Given the description of an element on the screen output the (x, y) to click on. 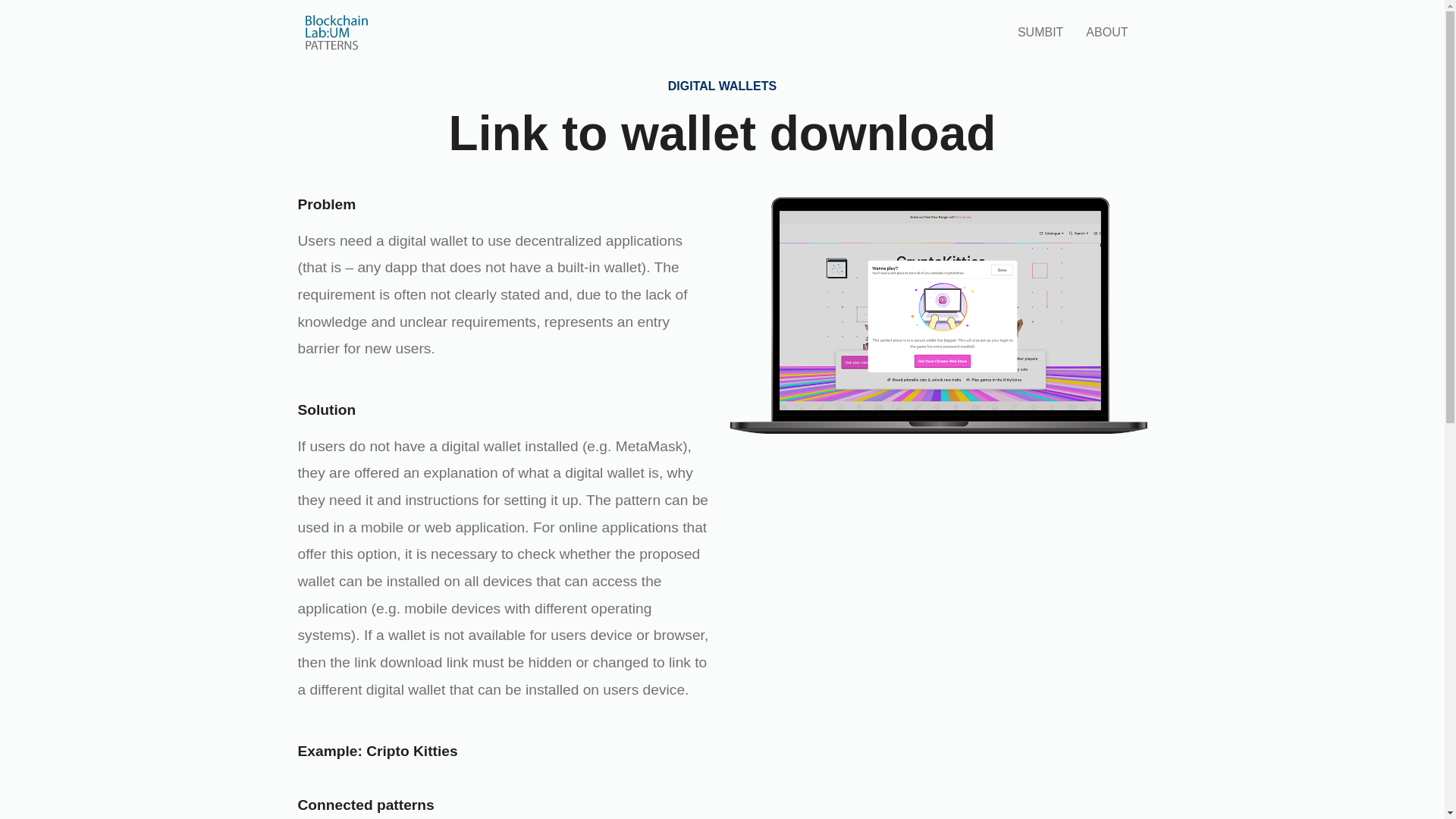
SUMBIT (1040, 32)
ABOUT (1106, 32)
Example: Cripto Kitties (377, 750)
